Given the description of an element on the screen output the (x, y) to click on. 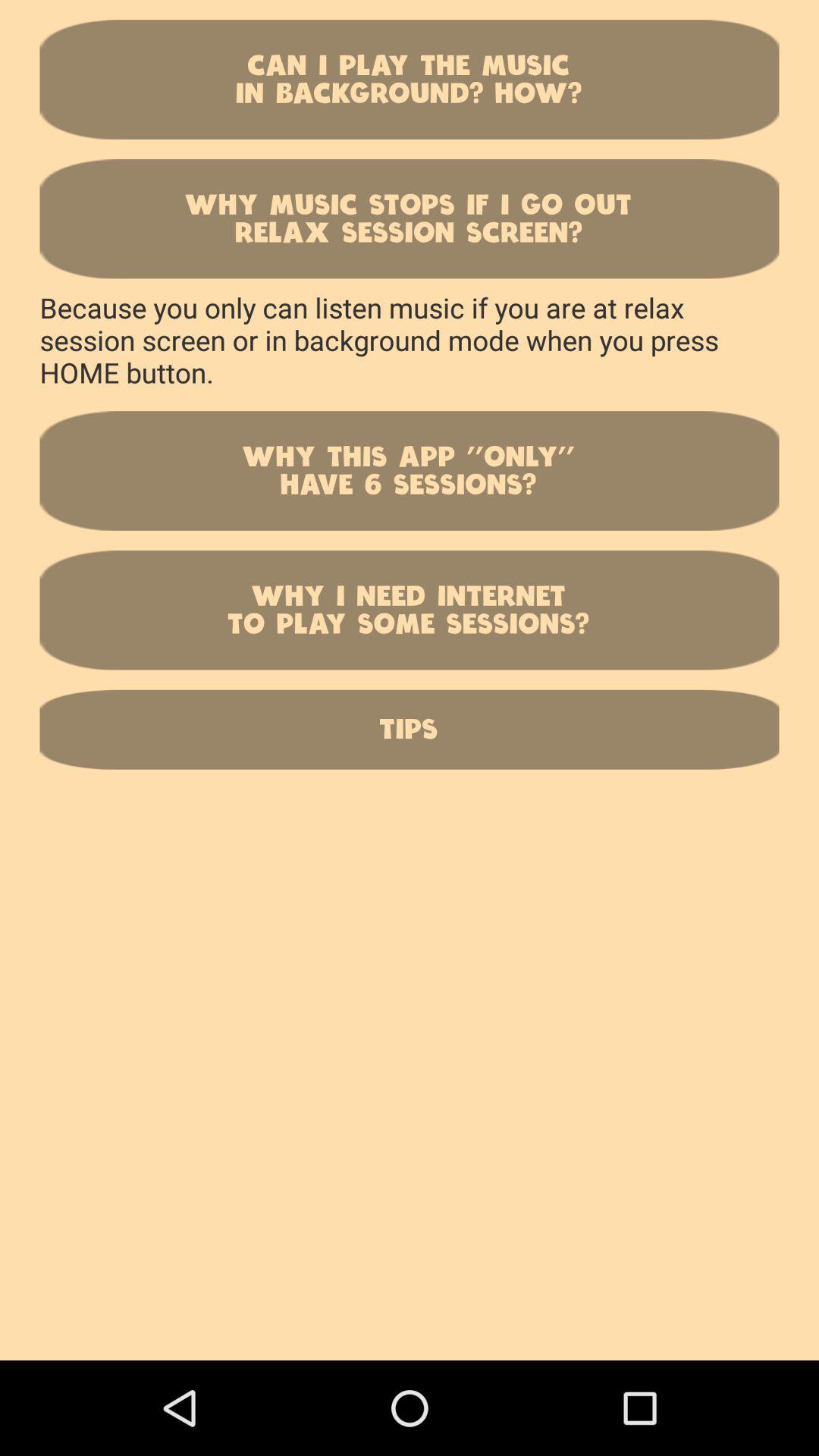
press the app above the because you only app (409, 218)
